Given the description of an element on the screen output the (x, y) to click on. 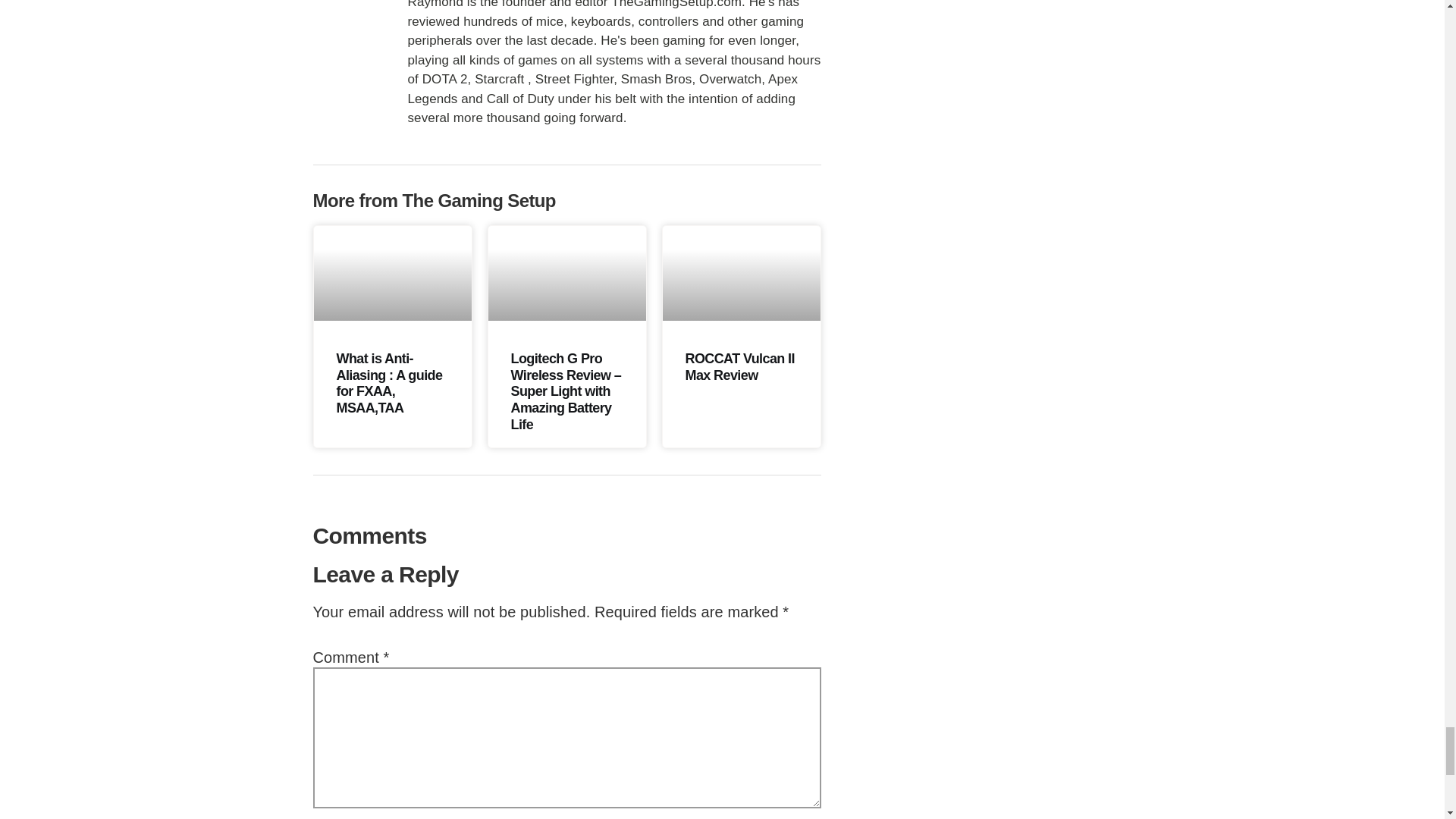
ROCCAT Vulcan II Max Review (739, 367)
What is Anti-Aliasing : A guide for FXAA, MSAA,TAA (389, 383)
